Given the description of an element on the screen output the (x, y) to click on. 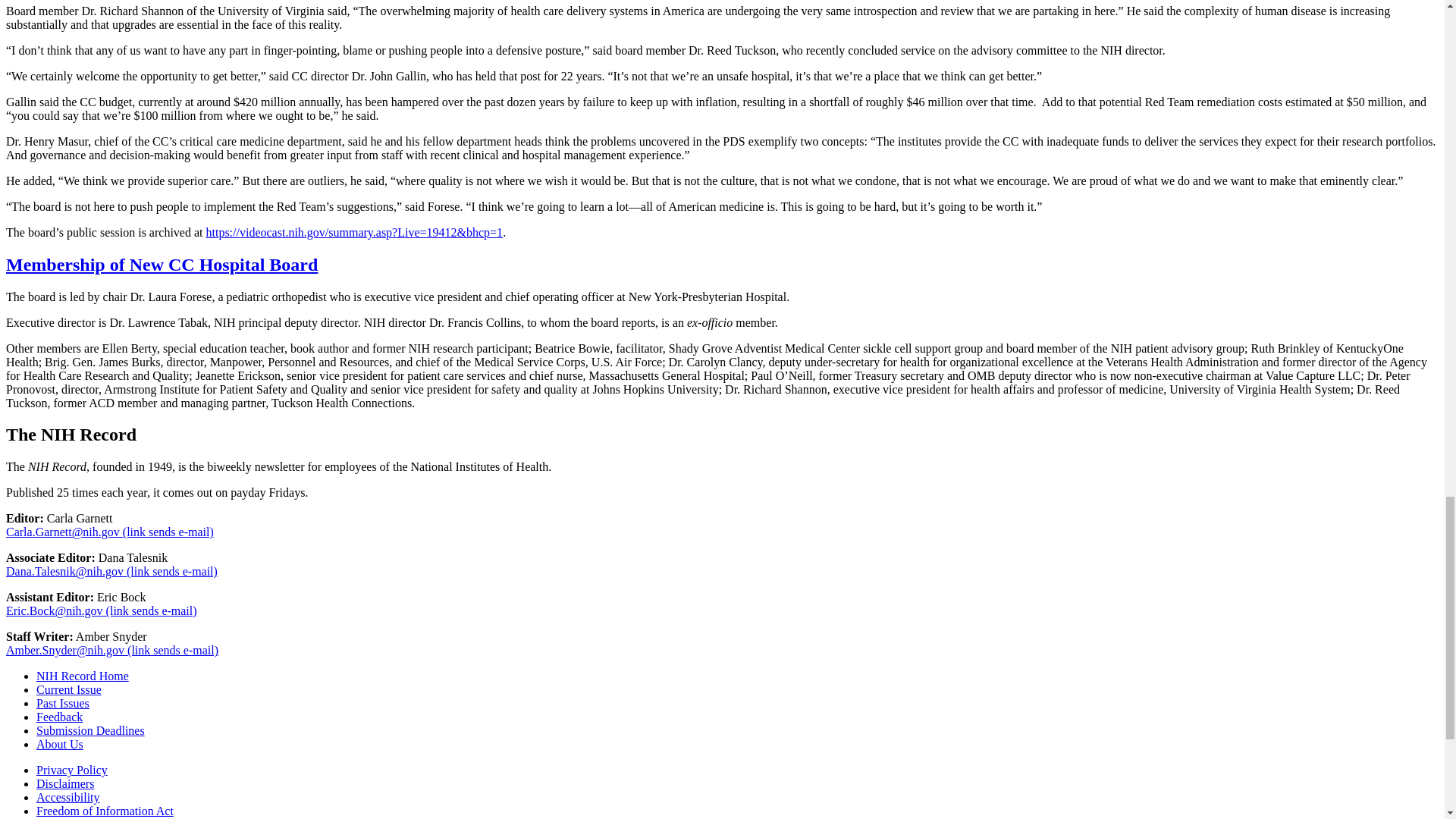
Membership of New CC Hospital Board (161, 264)
NIH Record Home (82, 675)
Past Issues (62, 703)
Feedback (59, 716)
Current Issue (68, 689)
